Given the description of an element on the screen output the (x, y) to click on. 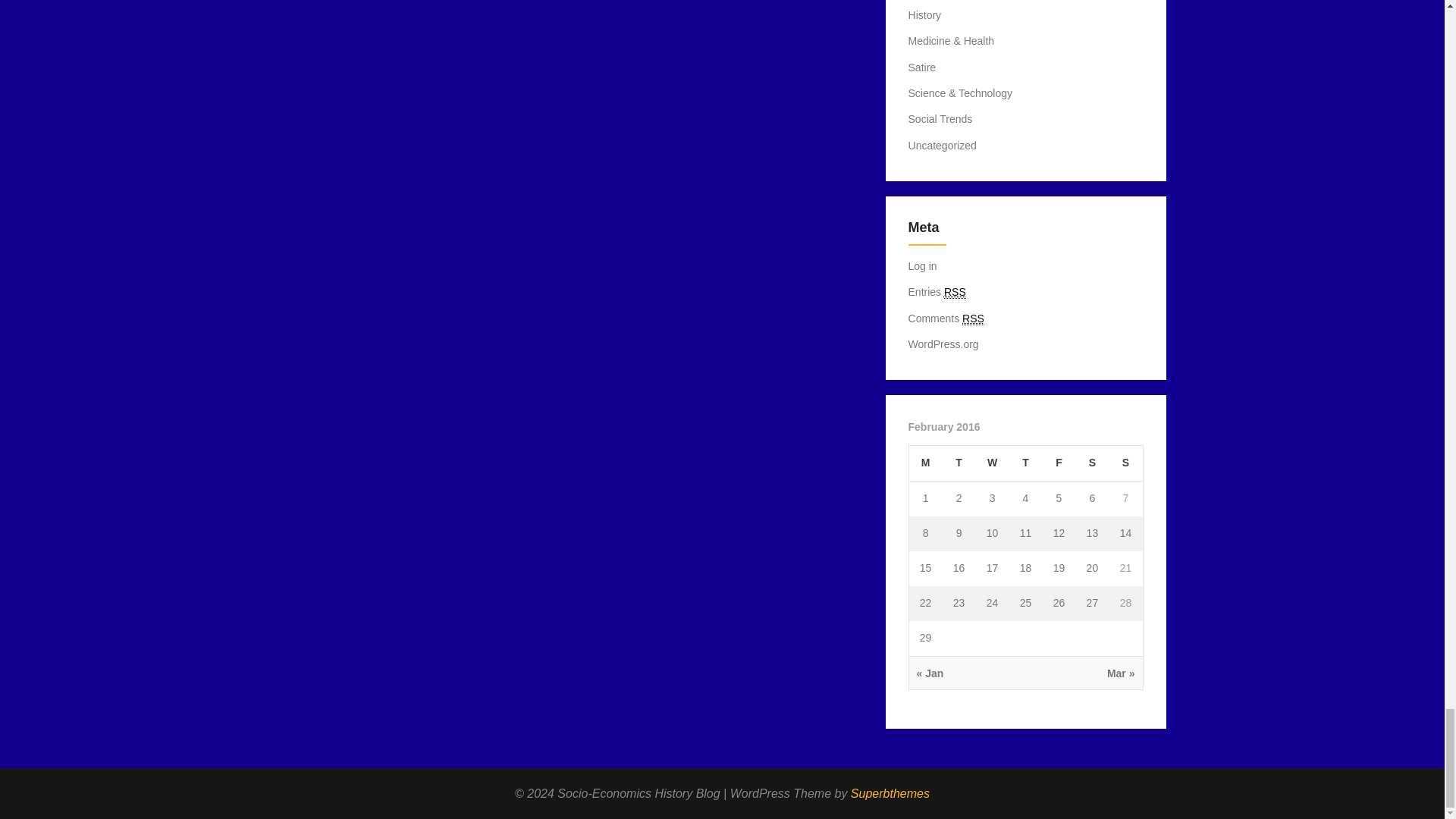
Saturday (1091, 463)
Tuesday (958, 463)
Really Simple Syndication (973, 318)
Really Simple Syndication (954, 291)
Thursday (1025, 463)
Sunday (1125, 463)
Friday (1058, 463)
Monday (925, 463)
Wednesday (992, 463)
